Given the description of an element on the screen output the (x, y) to click on. 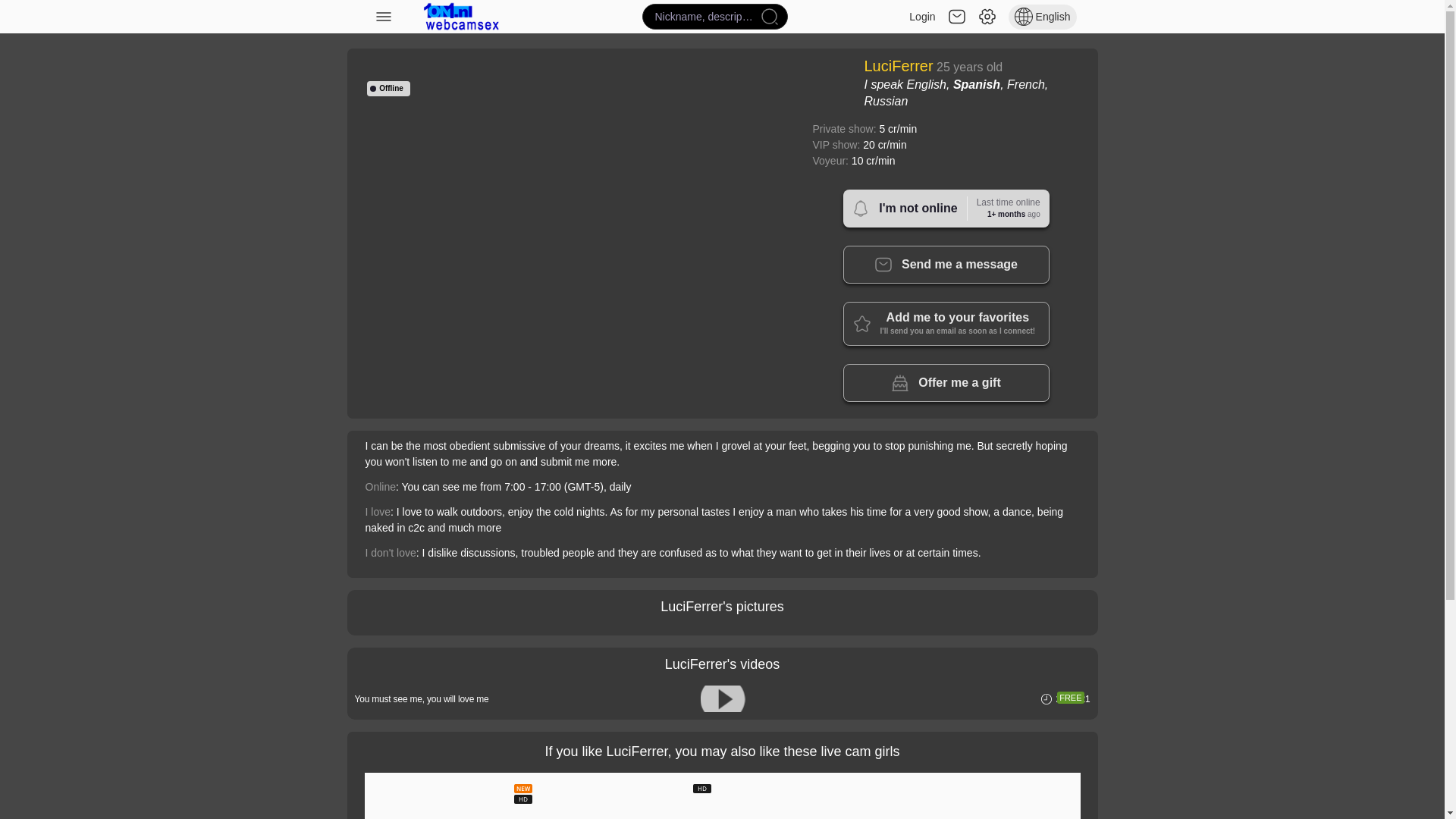
Offer me a gift (946, 382)
See all girls (461, 16)
Send me a message (946, 264)
